Given the description of an element on the screen output the (x, y) to click on. 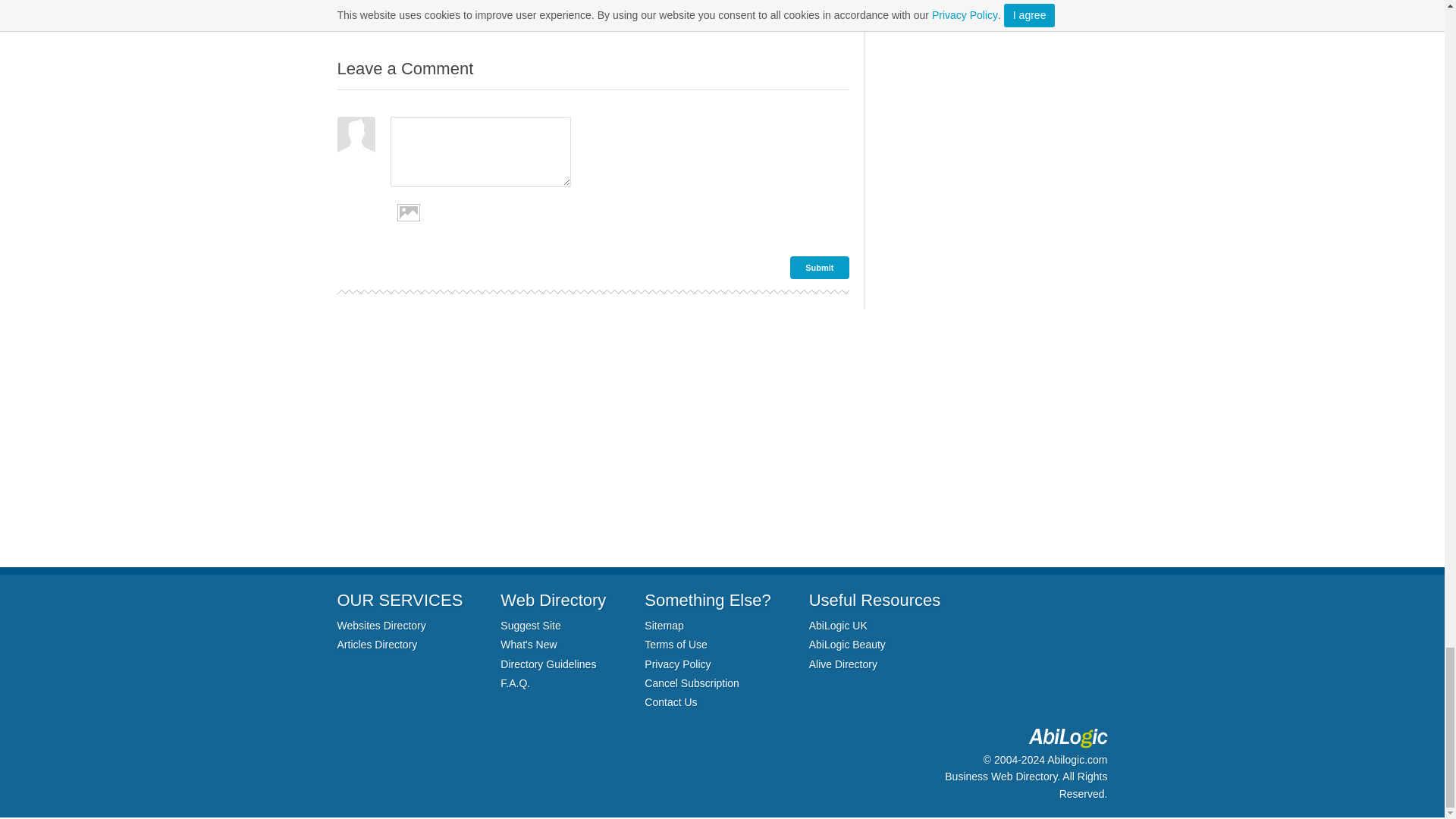
Articles Directory (376, 644)
Websites Directory (380, 625)
Submit (819, 267)
Suggest Site (530, 625)
Submit (819, 267)
